Given the description of an element on the screen output the (x, y) to click on. 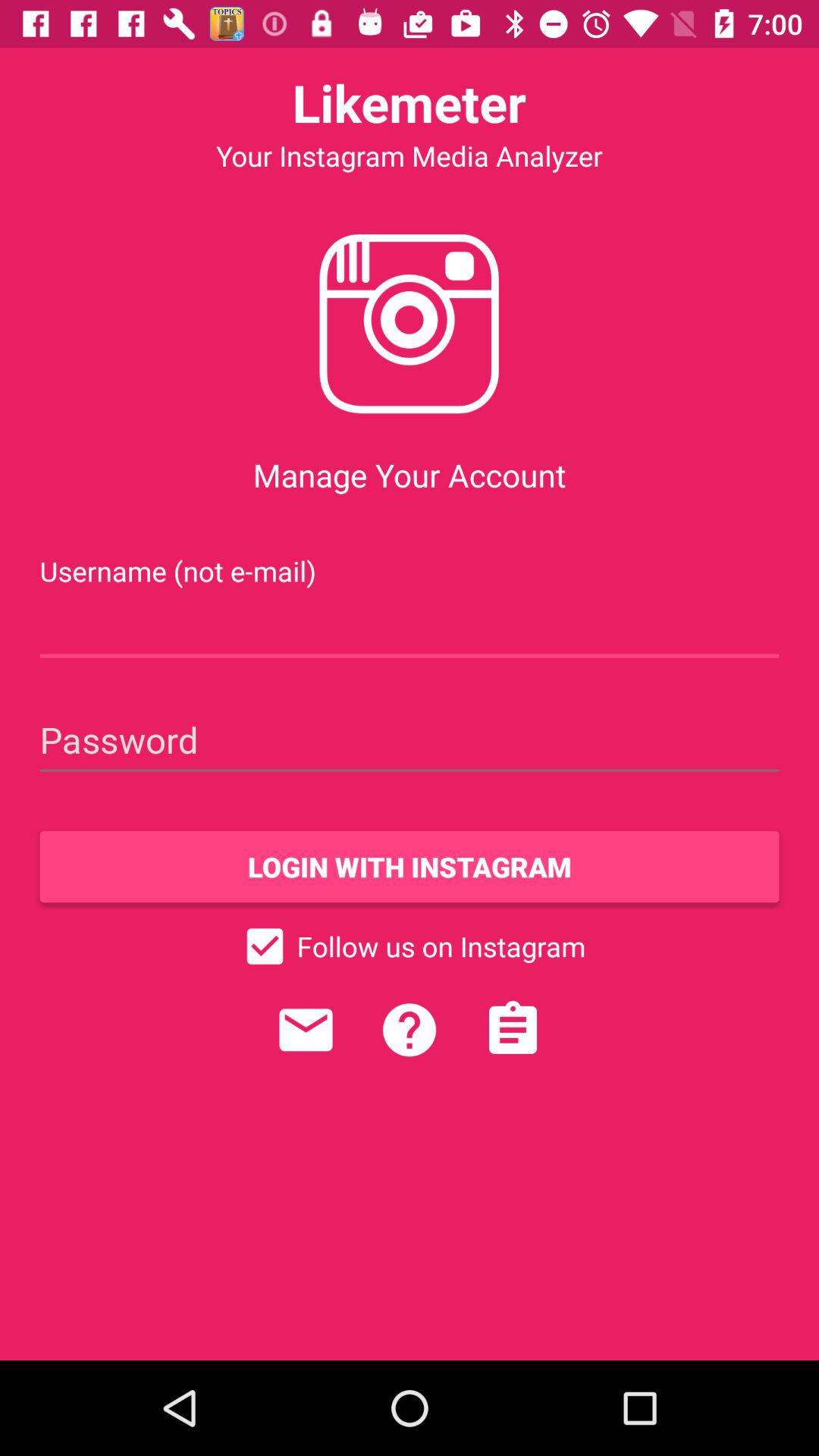
swipe until the login with instagram item (409, 866)
